Given the description of an element on the screen output the (x, y) to click on. 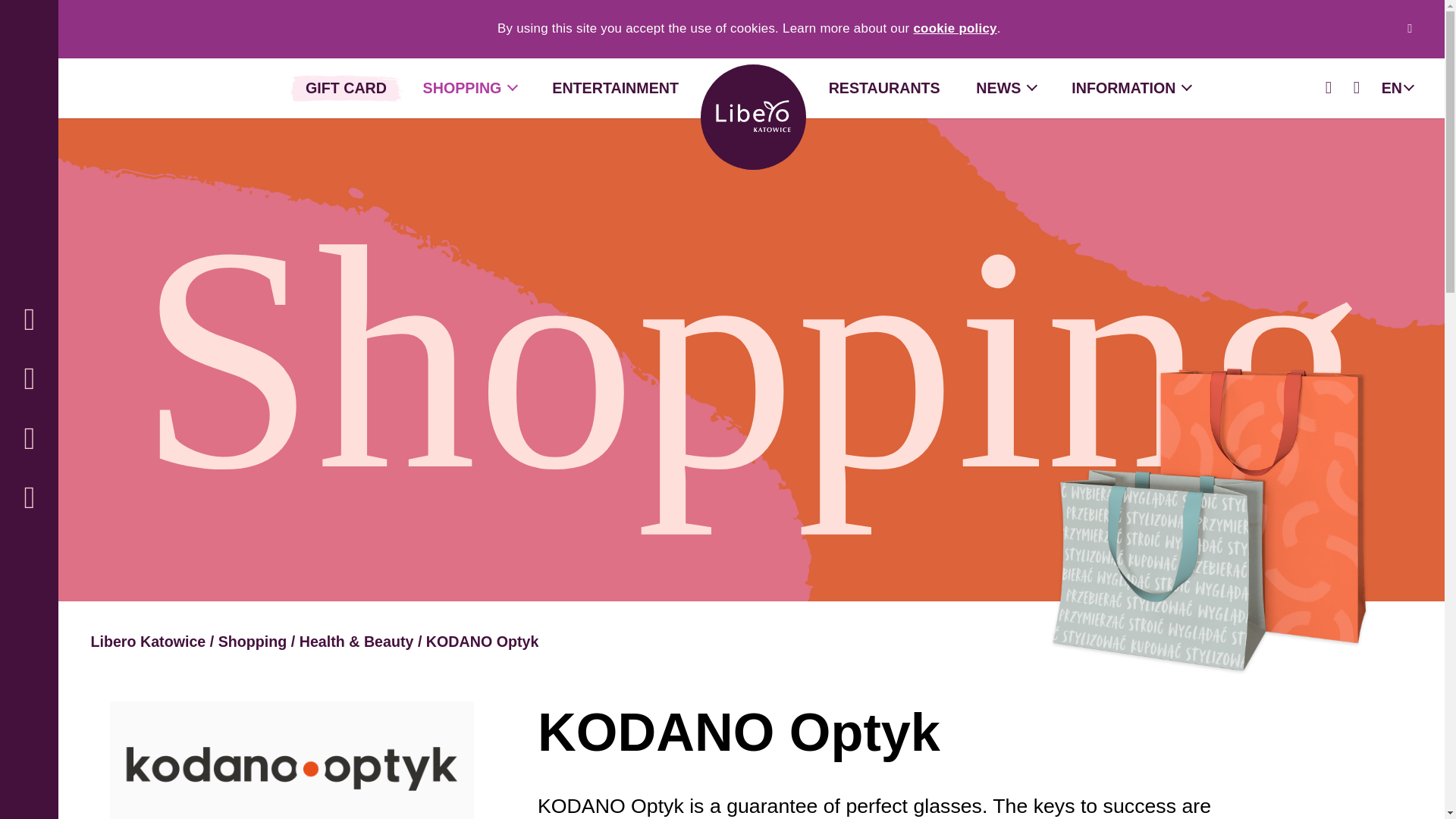
INFORMATION (1131, 87)
Shopping (252, 641)
SHOPPING (469, 87)
GIFT CARD (346, 87)
ENTERTAINMENT (614, 87)
cookie policy (953, 28)
Entertainment (614, 87)
Shopping (469, 87)
Libero Katowice (147, 641)
KODANO Optyk (482, 641)
